Given the description of an element on the screen output the (x, y) to click on. 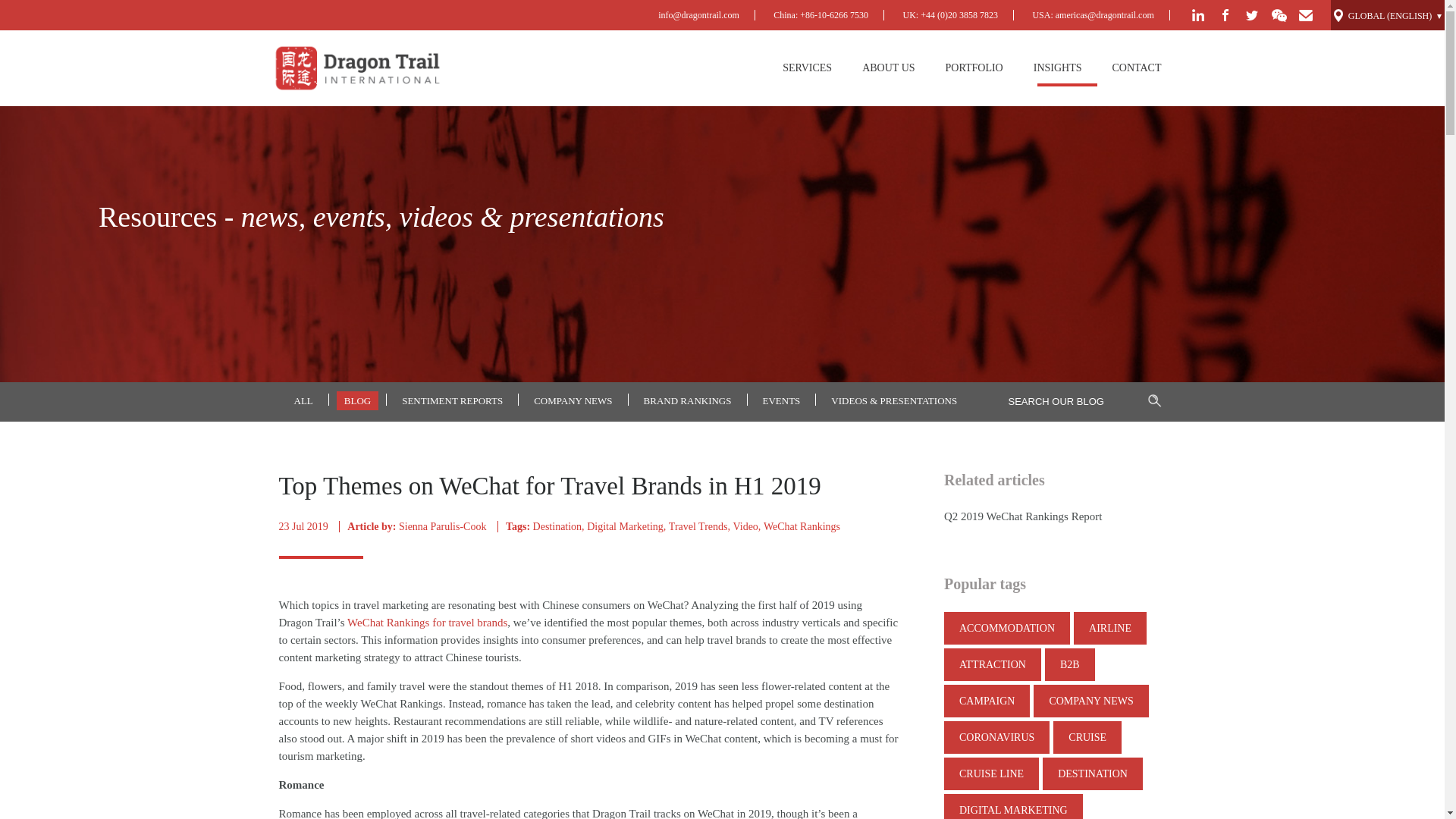
PORTFOLIO (973, 68)
ALL (303, 400)
INSIGHTS (1057, 68)
ABOUT US (888, 68)
CONTACT (1136, 68)
SERVICES (807, 68)
